Given the description of an element on the screen output the (x, y) to click on. 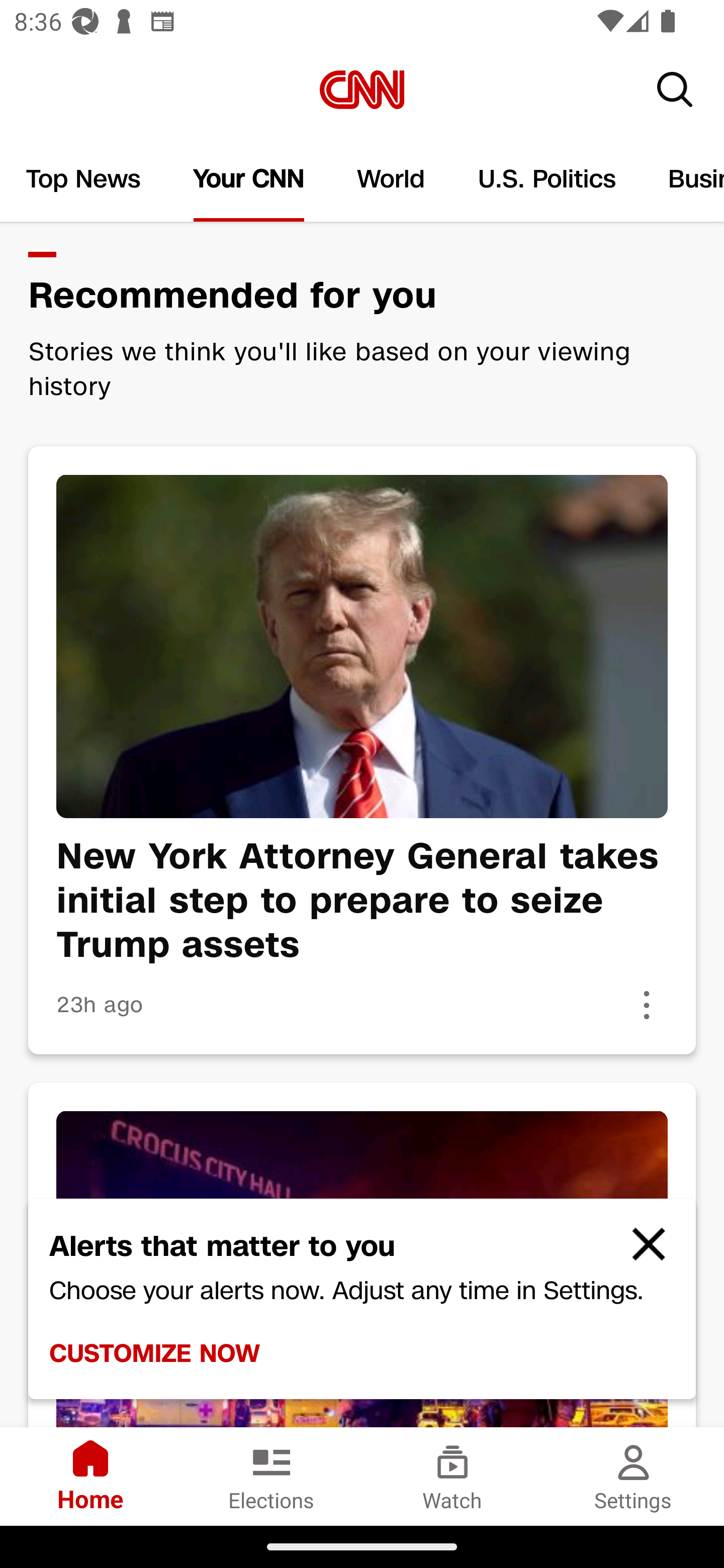
Top News (83, 179)
World (390, 179)
U.S. Politics (546, 179)
More actions (646, 1004)
close (639, 1251)
Elections (271, 1475)
Watch (452, 1475)
Settings (633, 1475)
